Given the description of an element on the screen output the (x, y) to click on. 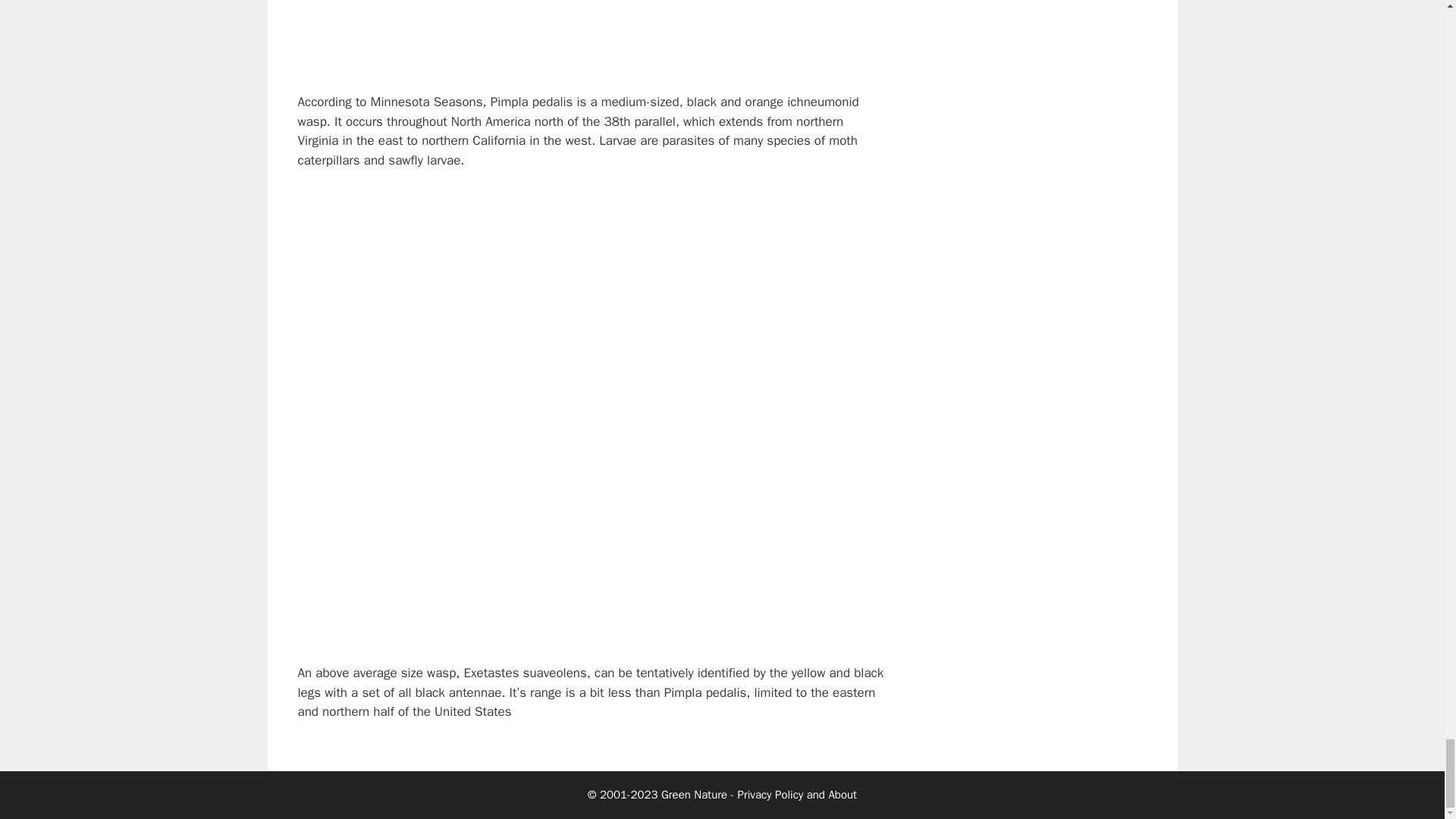
About (842, 794)
Privacy Policy (770, 794)
